Given the description of an element on the screen output the (x, y) to click on. 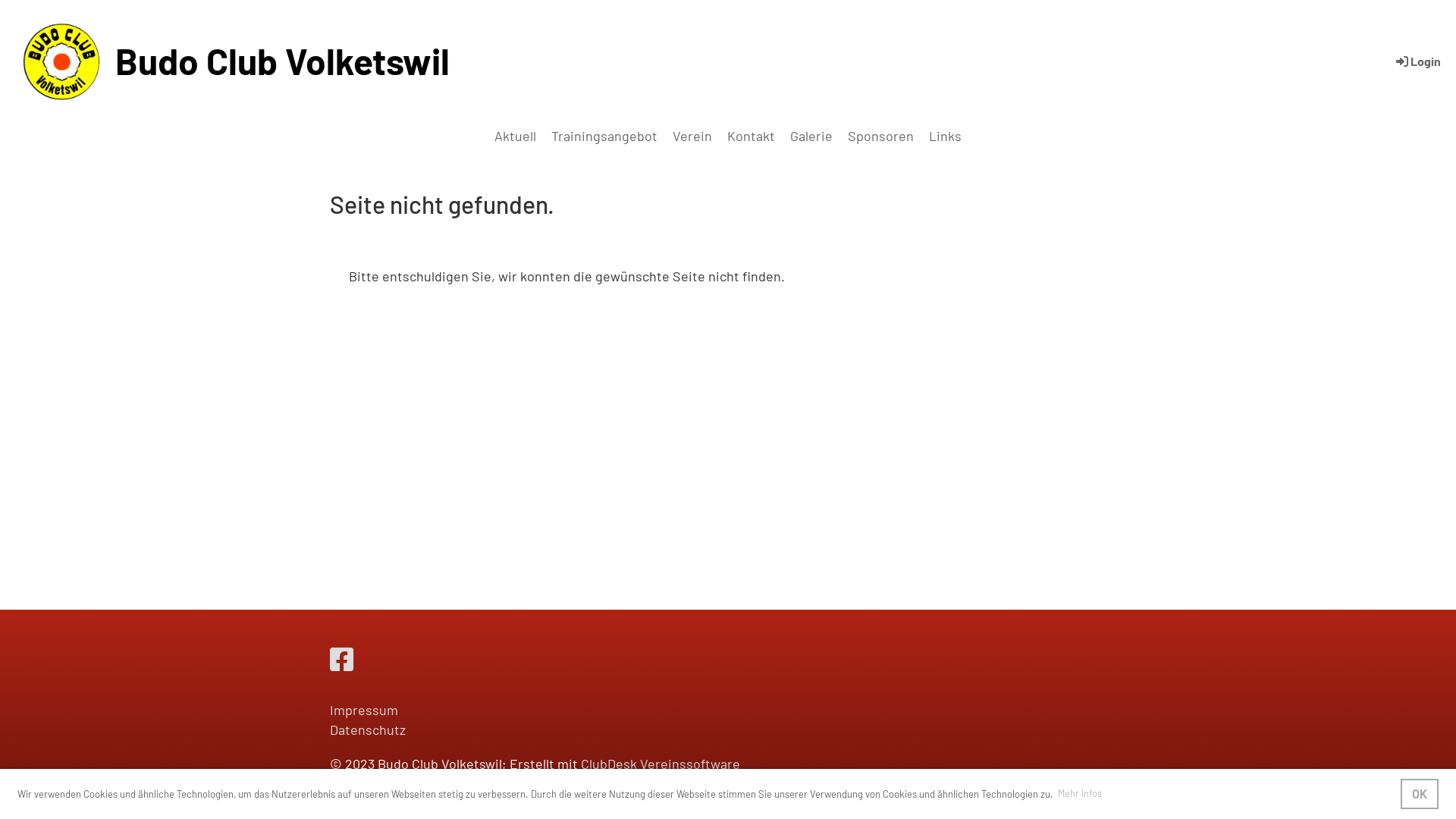
Datenschutz Element type: text (367, 738)
Kontakt Element type: text (750, 135)
Trainingsangebot Element type: text (604, 135)
Galerie Element type: text (811, 135)
Links Element type: text (945, 135)
ClubDesk Vereinssoftware Element type: text (660, 763)
Verein Element type: text (692, 135)
Login Element type: text (1416, 60)
OK Element type: text (1419, 793)
Impressum Element type: text (363, 709)
Budo Club Volketswil Element type: text (282, 60)
Mehr Infos Element type: text (1079, 793)
Sponsoren Element type: text (880, 135)
Aktuell Element type: text (514, 135)
